Given the description of an element on the screen output the (x, y) to click on. 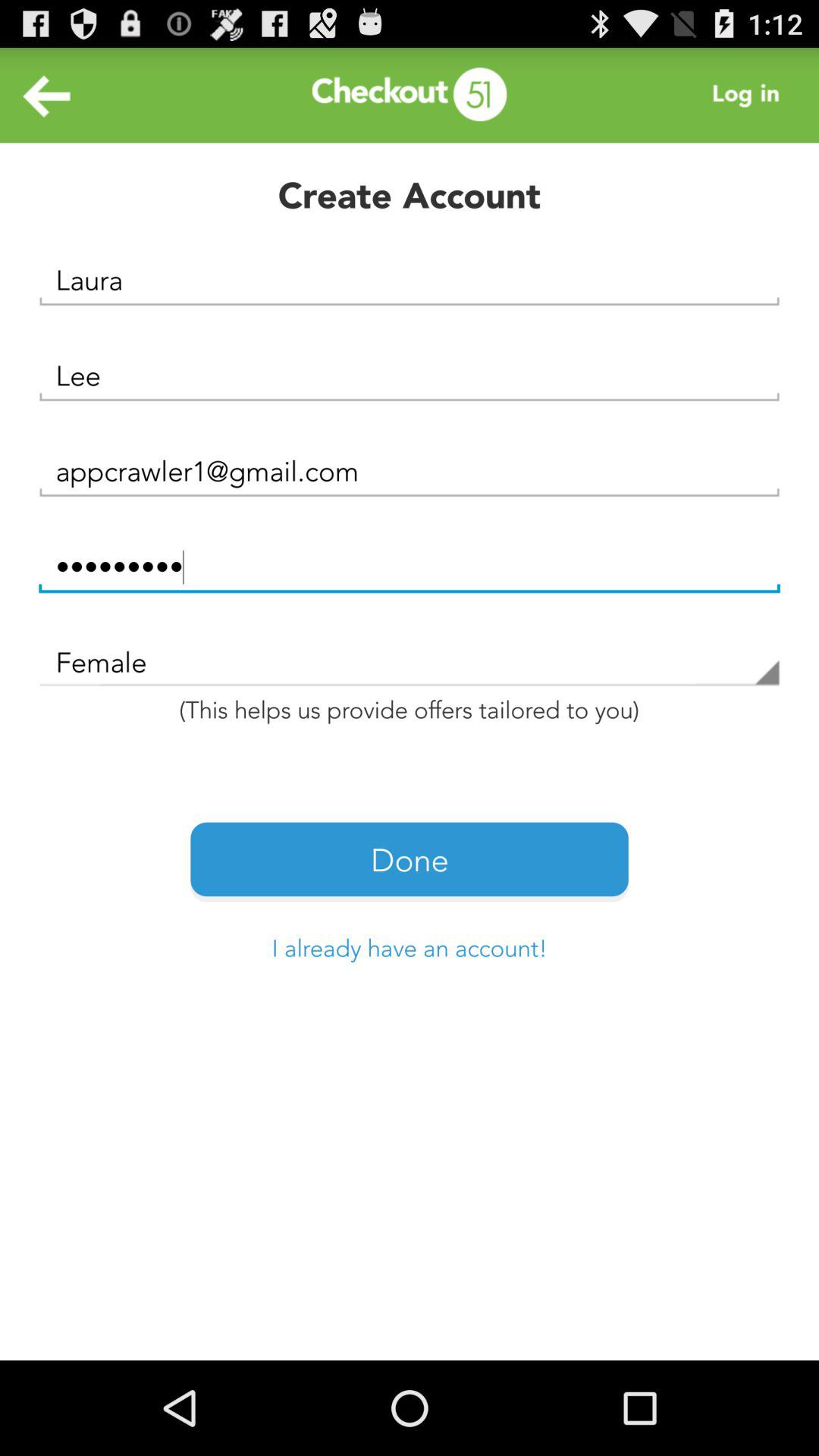
open log in page (750, 95)
